Given the description of an element on the screen output the (x, y) to click on. 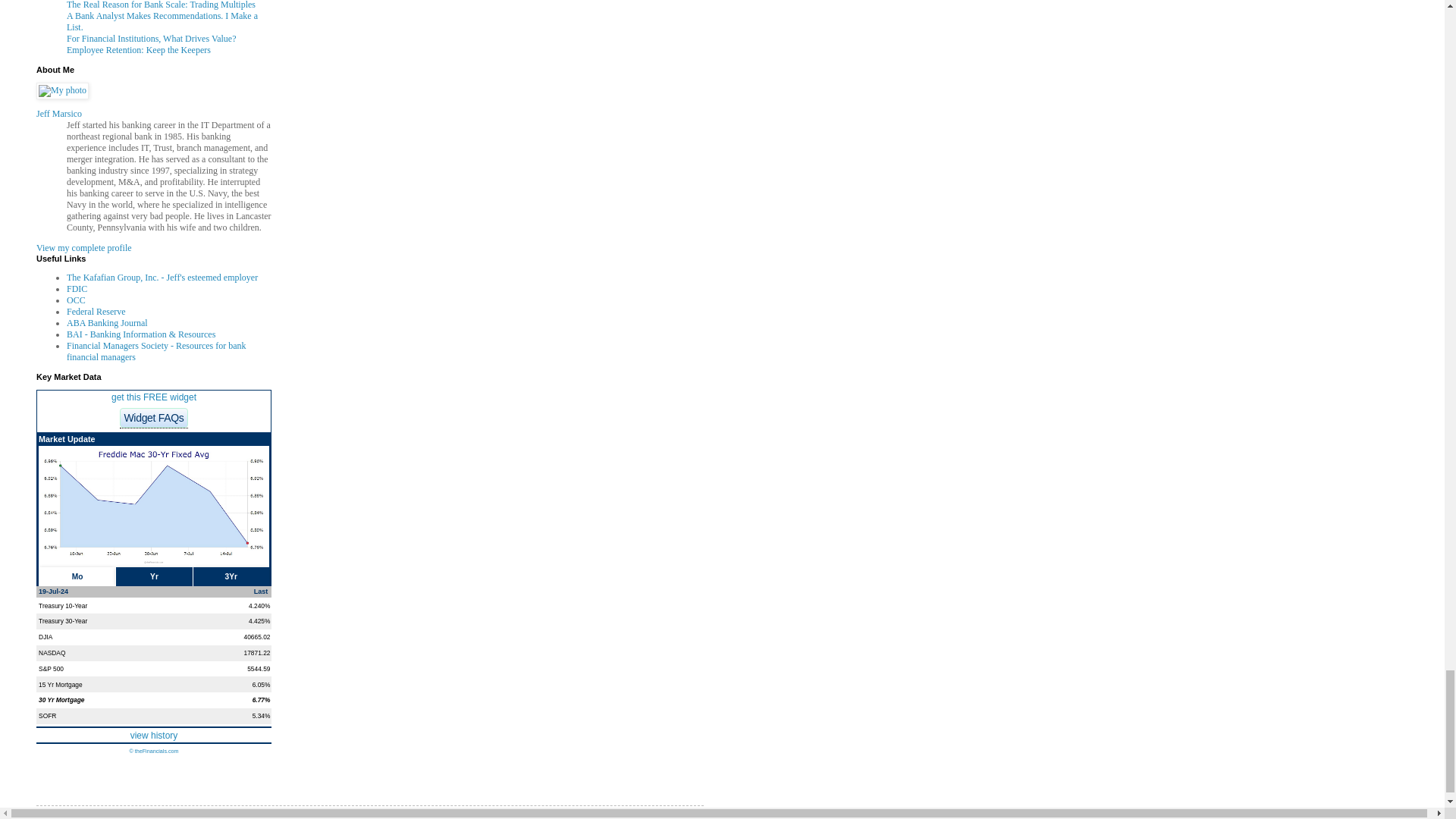
get widget (154, 397)
view history (154, 735)
